Given the description of an element on the screen output the (x, y) to click on. 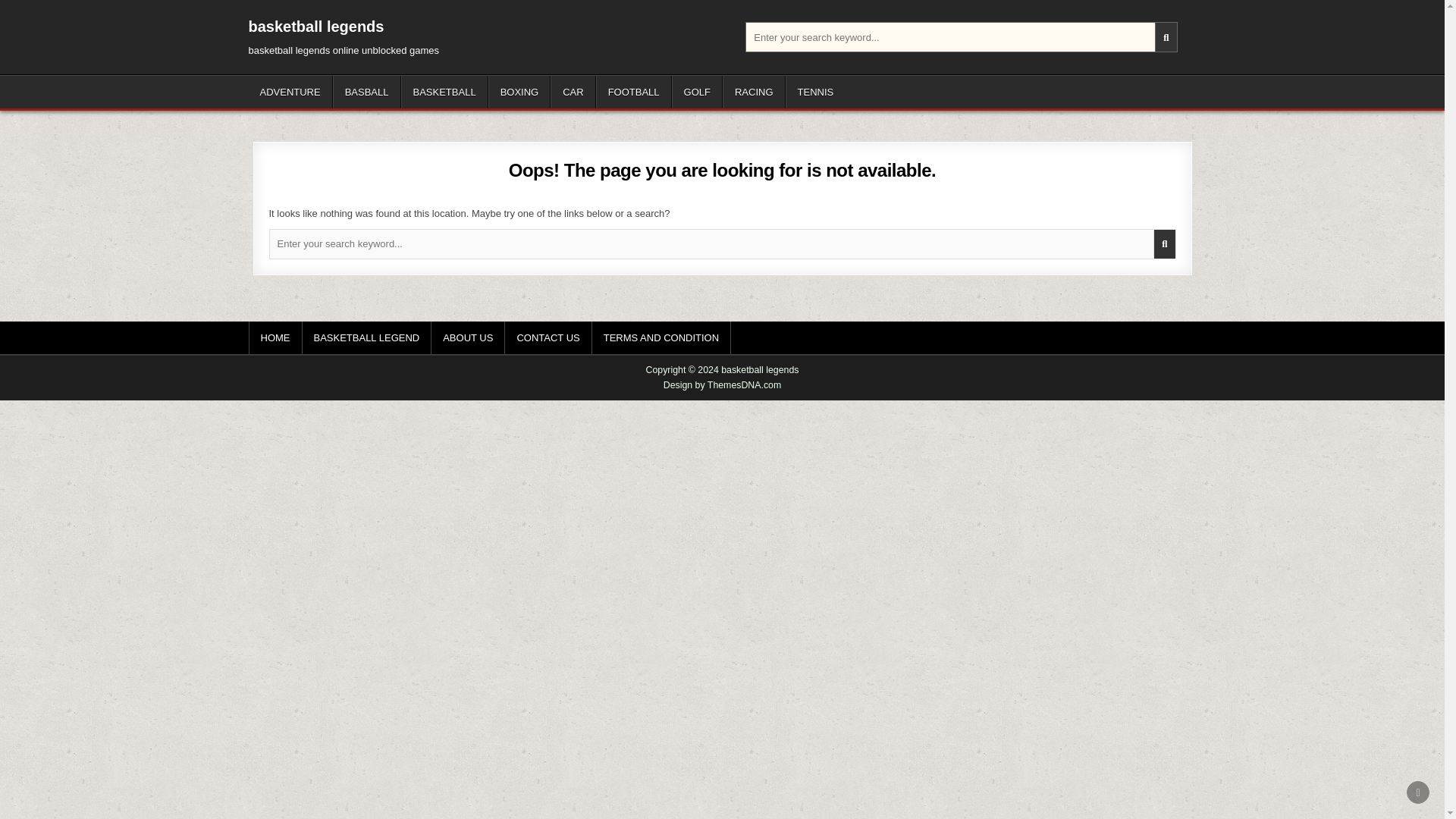
RACING (754, 92)
TENNIS (815, 92)
ABOUT US (467, 337)
FOOTBALL (633, 92)
ADVENTURE (290, 92)
BASKETBALL (444, 92)
Design by ThemesDNA.com (722, 385)
basketball legends (316, 26)
BOXING (519, 92)
HOME (275, 337)
CONTACT US (548, 337)
CAR (572, 92)
BASKETBALL LEGEND (365, 337)
TERMS AND CONDITION (661, 337)
BASBALL (367, 92)
